Given the description of an element on the screen output the (x, y) to click on. 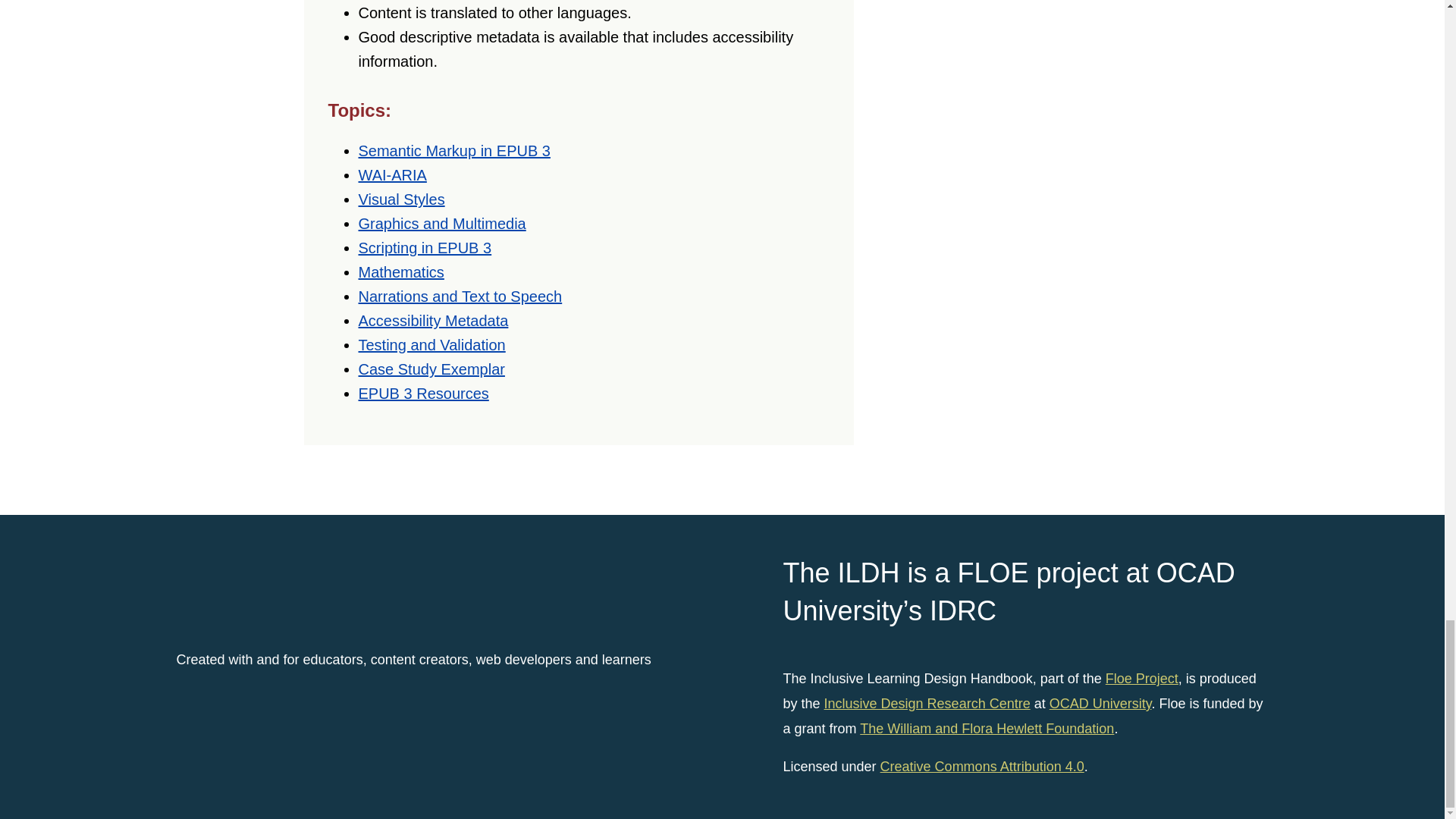
Case Study Exemplar (430, 369)
WAI-ARIA (392, 175)
Visual Styles (401, 199)
Mathematics (401, 271)
Semantic Markup in EPUB 3 (454, 150)
Narrations and Text to Speech (460, 296)
Scripting in EPUB 3 (425, 247)
Floe Project (1141, 678)
Graphics and Multimedia (441, 223)
EPUB 3 Resources (422, 393)
